Given the description of an element on the screen output the (x, y) to click on. 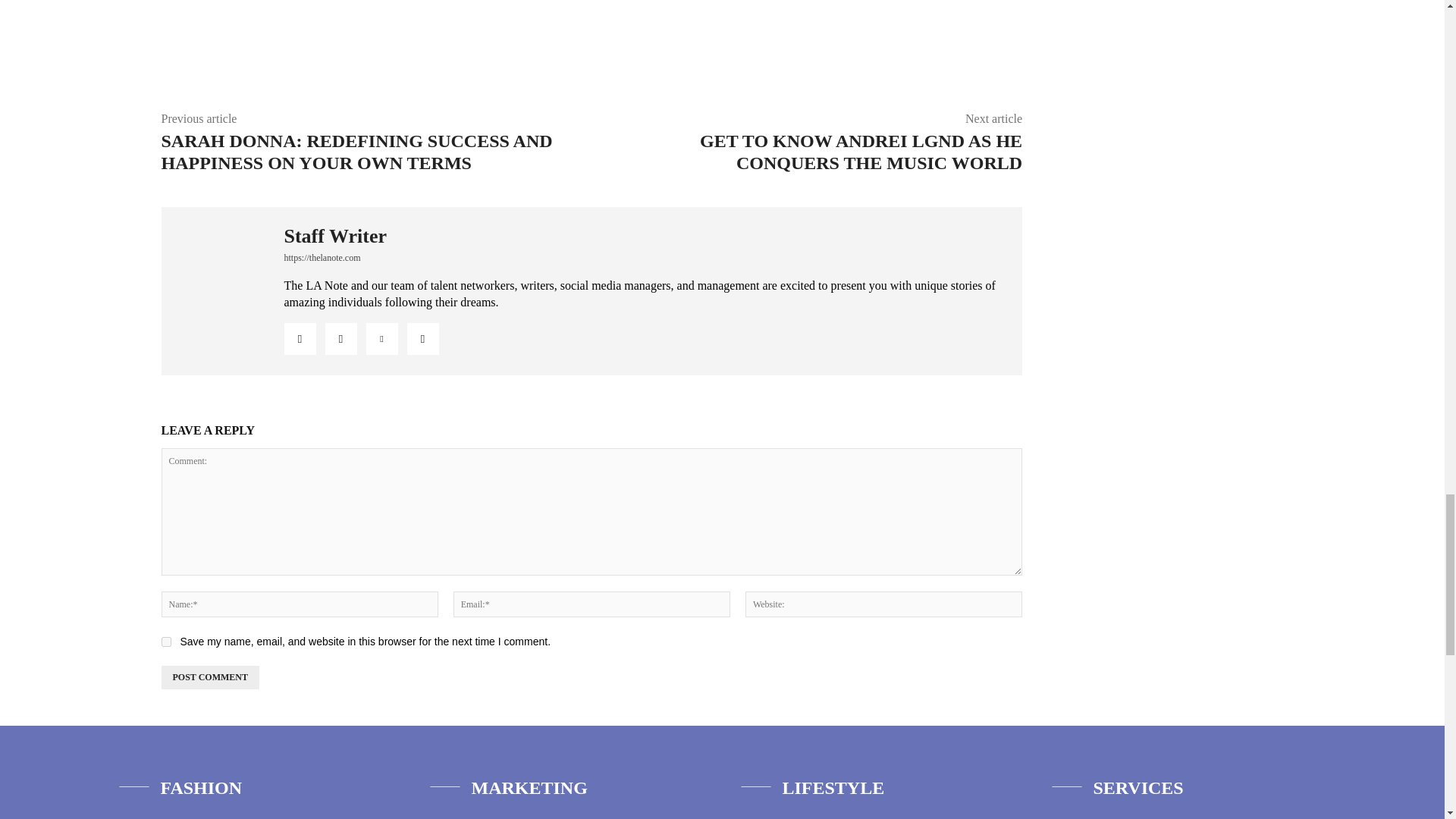
Post Comment (209, 677)
yes (165, 642)
